Given the description of an element on the screen output the (x, y) to click on. 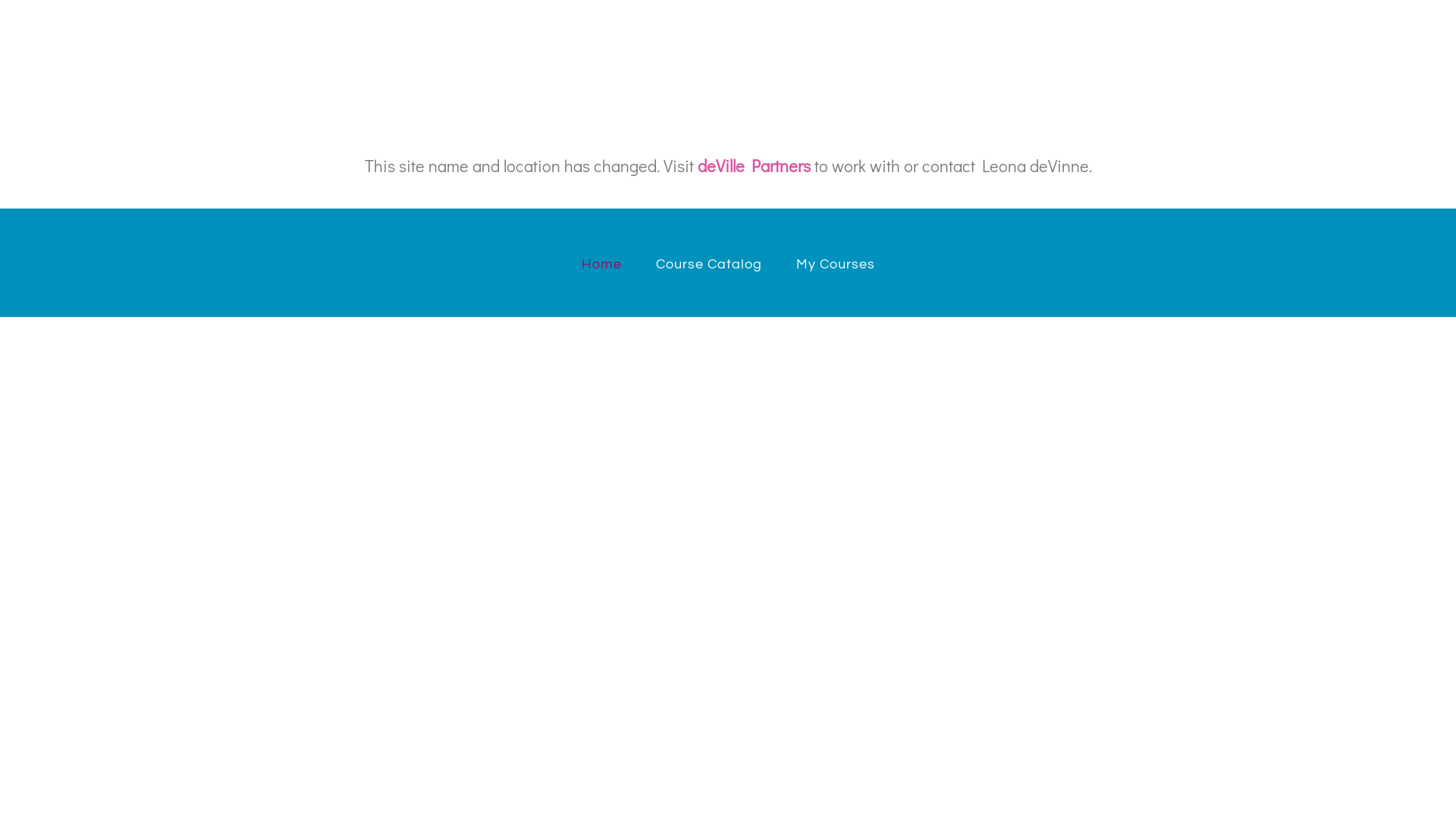
deVille Partners Element type: text (753, 165)
ACCENDO CONSULTING Element type: text (378, 24)
Skip to main content Element type: text (0, 0)
My Courses Element type: text (835, 264)
Course Catalog Element type: text (708, 264)
Home Element type: text (600, 264)
